Given the description of an element on the screen output the (x, y) to click on. 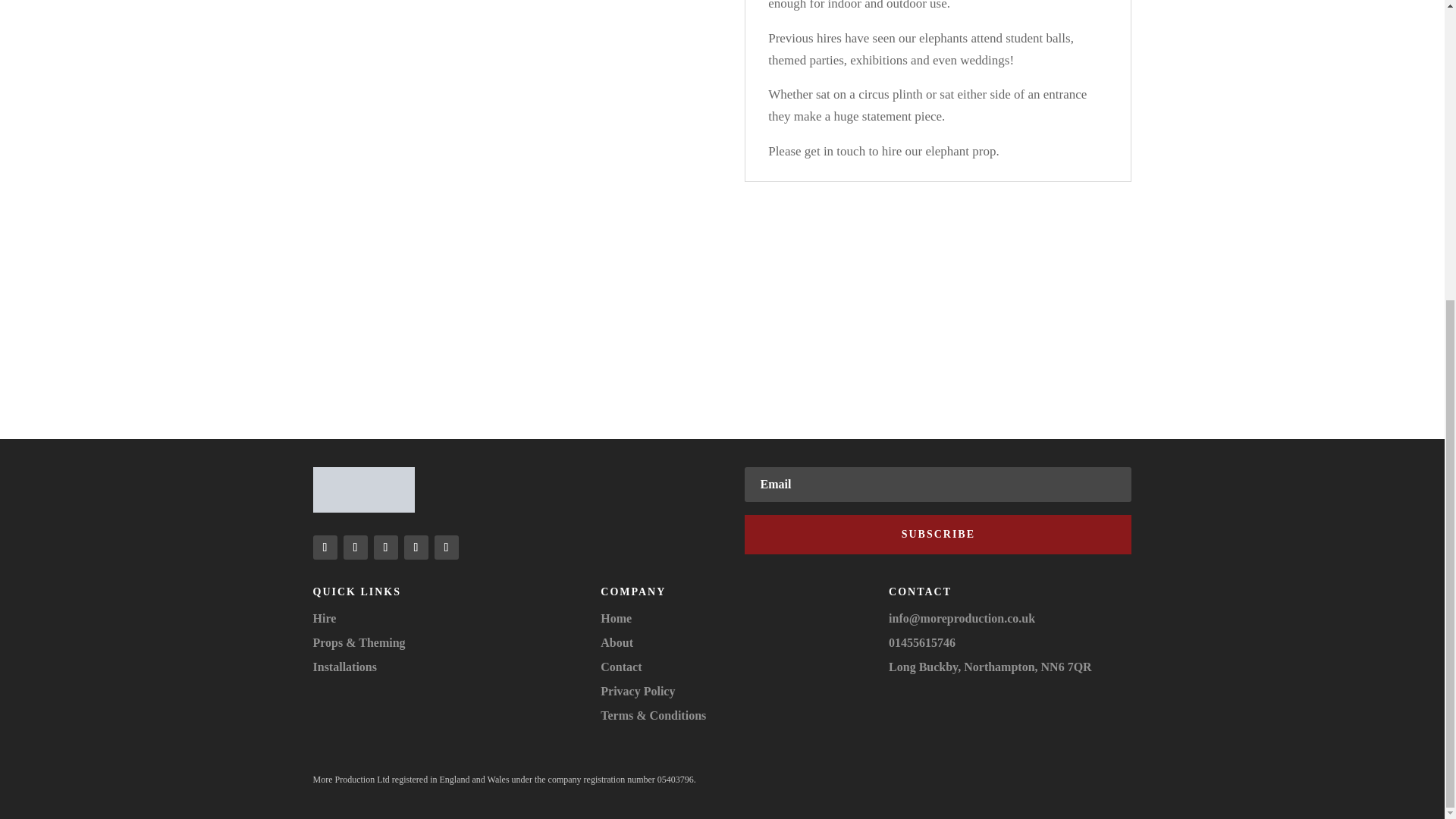
Follow on Instagram (324, 547)
Follow on Facebook (354, 547)
Follow on X (384, 547)
Follow on LinkedIn (415, 547)
Smaller-logo (363, 489)
Follow on Pinterest (445, 547)
